Given the description of an element on the screen output the (x, y) to click on. 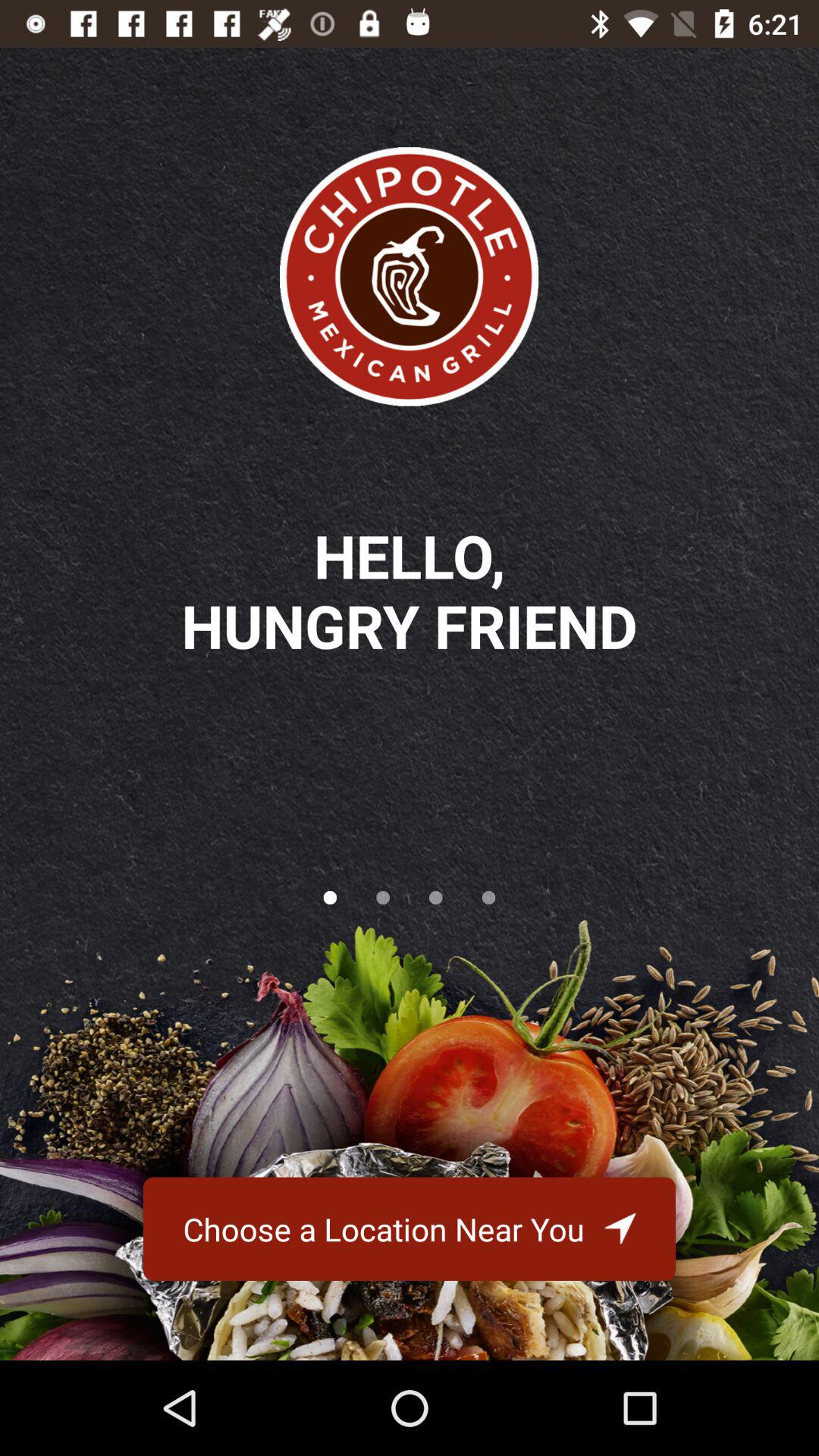
launch the choose a location icon (409, 1228)
